Given the description of an element on the screen output the (x, y) to click on. 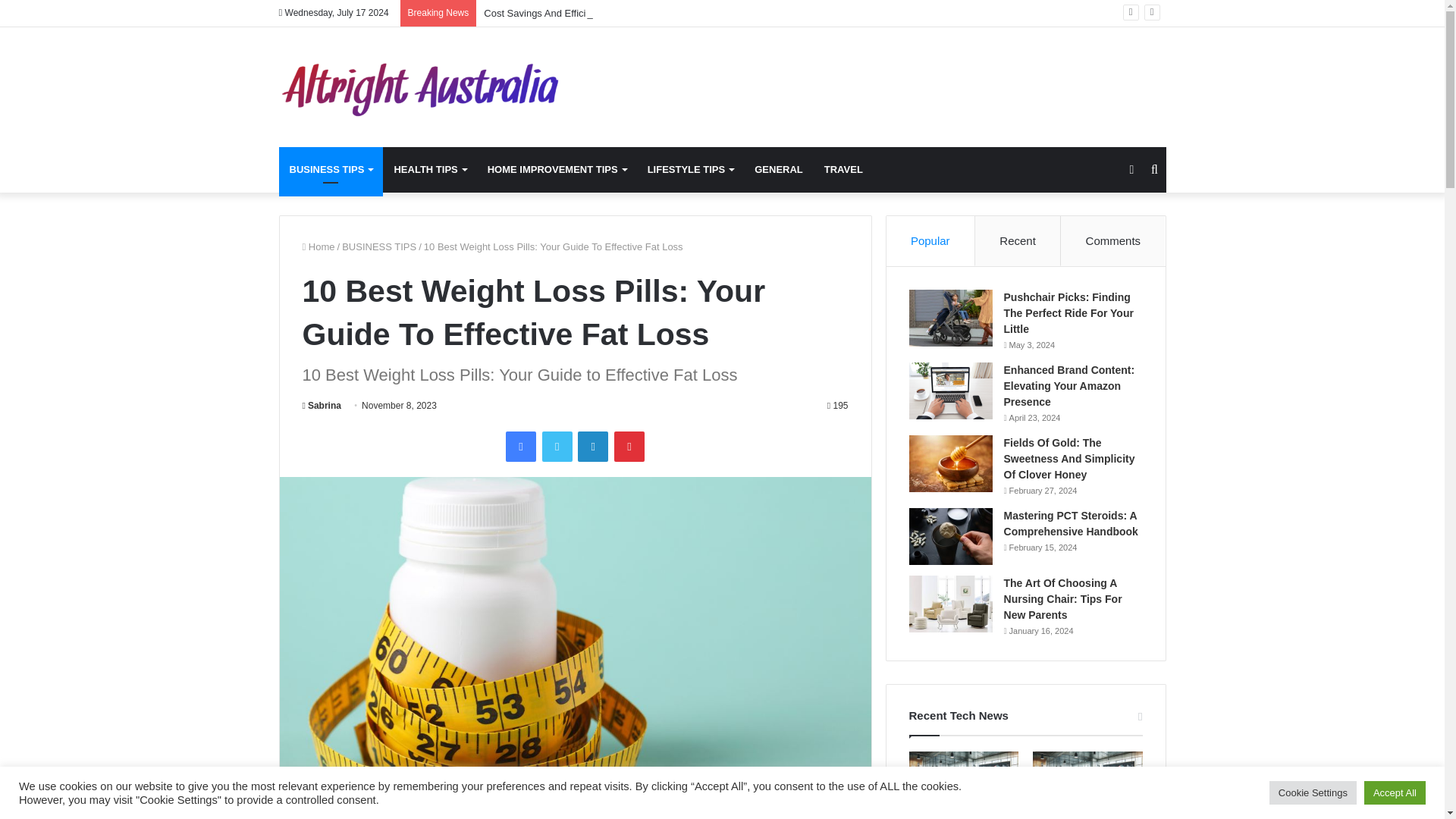
HOME IMPROVEMENT TIPS (557, 169)
Pinterest (629, 445)
altright australia (419, 87)
HEALTH TIPS (429, 169)
Sabrina (320, 405)
LinkedIn (593, 445)
LIFESTYLE TIPS (690, 169)
Twitter (556, 445)
BUSINESS TIPS (379, 246)
Home (317, 246)
Facebook (520, 445)
TRAVEL (843, 169)
GENERAL (778, 169)
LinkedIn (593, 445)
